Given the description of an element on the screen output the (x, y) to click on. 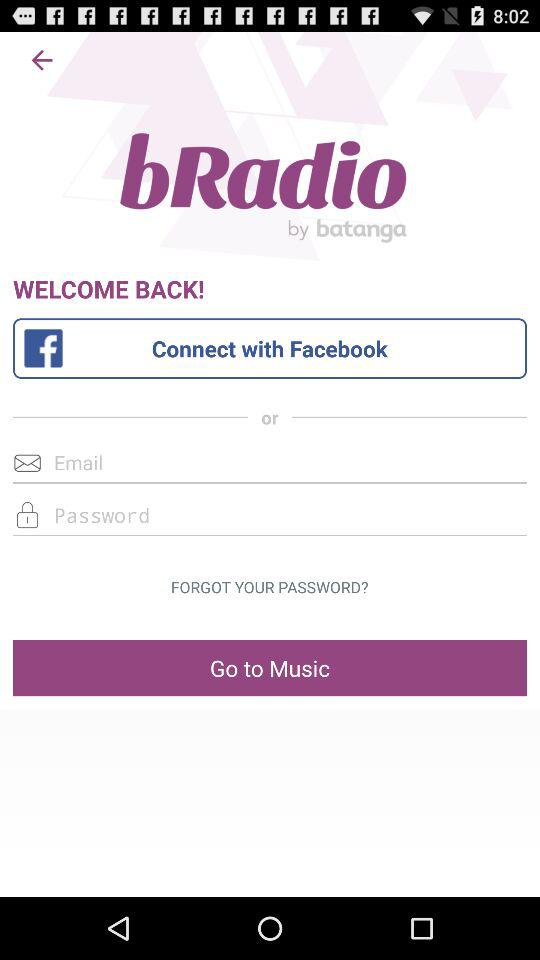
go back (41, 60)
